Given the description of an element on the screen output the (x, y) to click on. 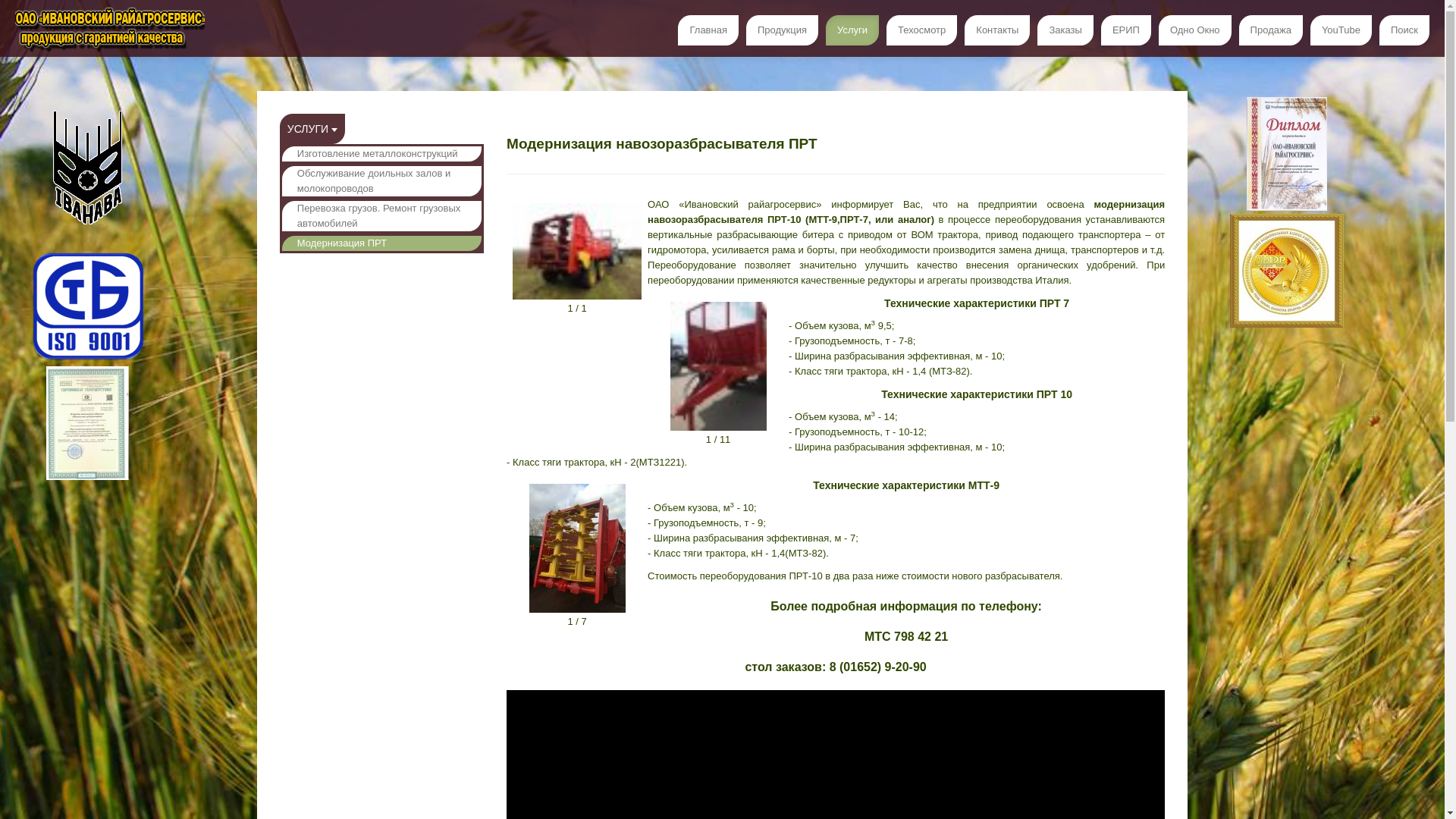
YouTube Element type: text (1340, 30)
